Given the description of an element on the screen output the (x, y) to click on. 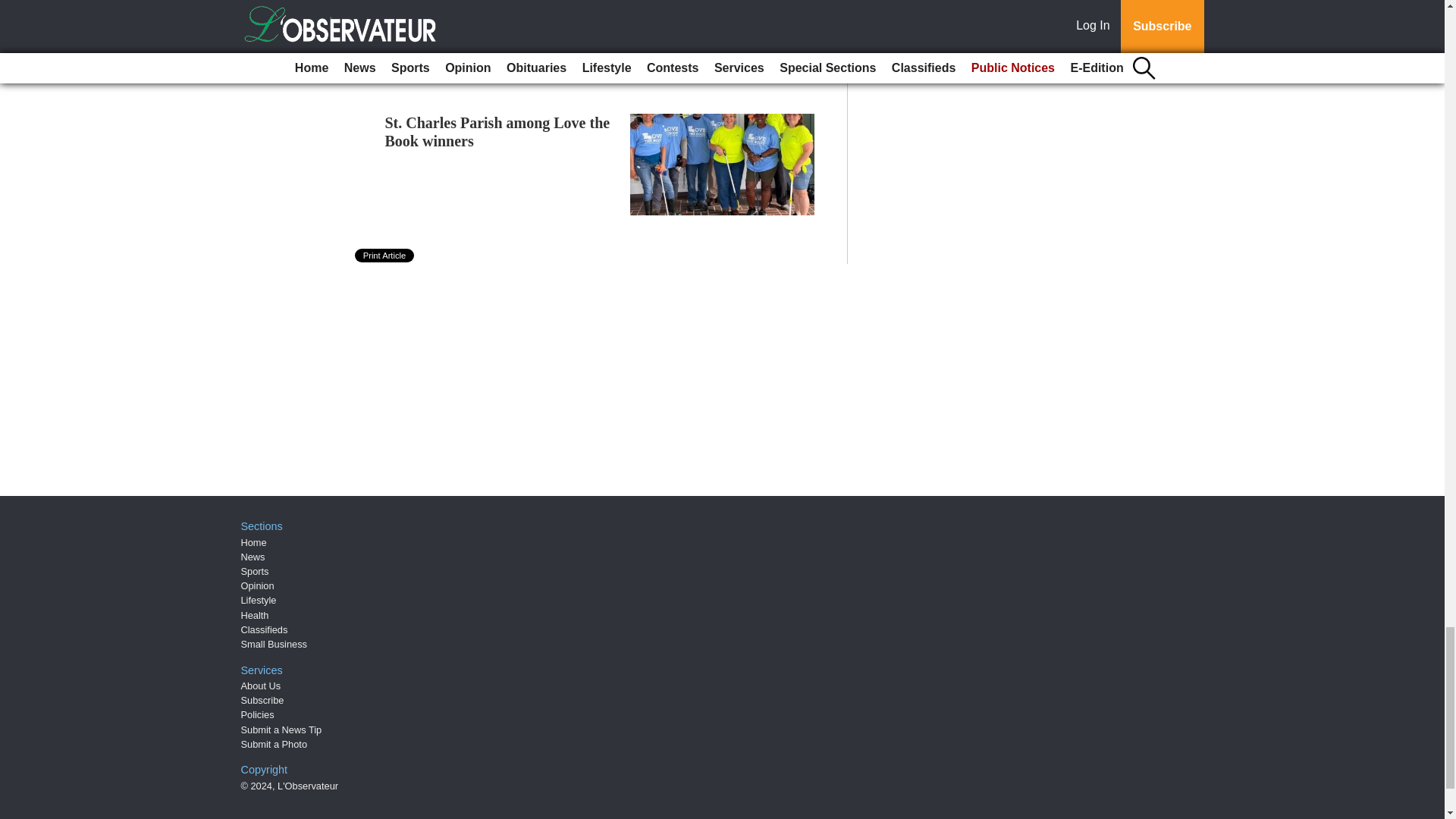
Print Article (384, 255)
Health (255, 614)
Opinion (258, 585)
Classifieds (264, 629)
St. Charles Parish among Love the Book winners (497, 131)
News (252, 556)
Sports (255, 571)
Lifestyle (258, 600)
St. Charles Parish among Love the Book winners (497, 131)
Home (253, 542)
